Given the description of an element on the screen output the (x, y) to click on. 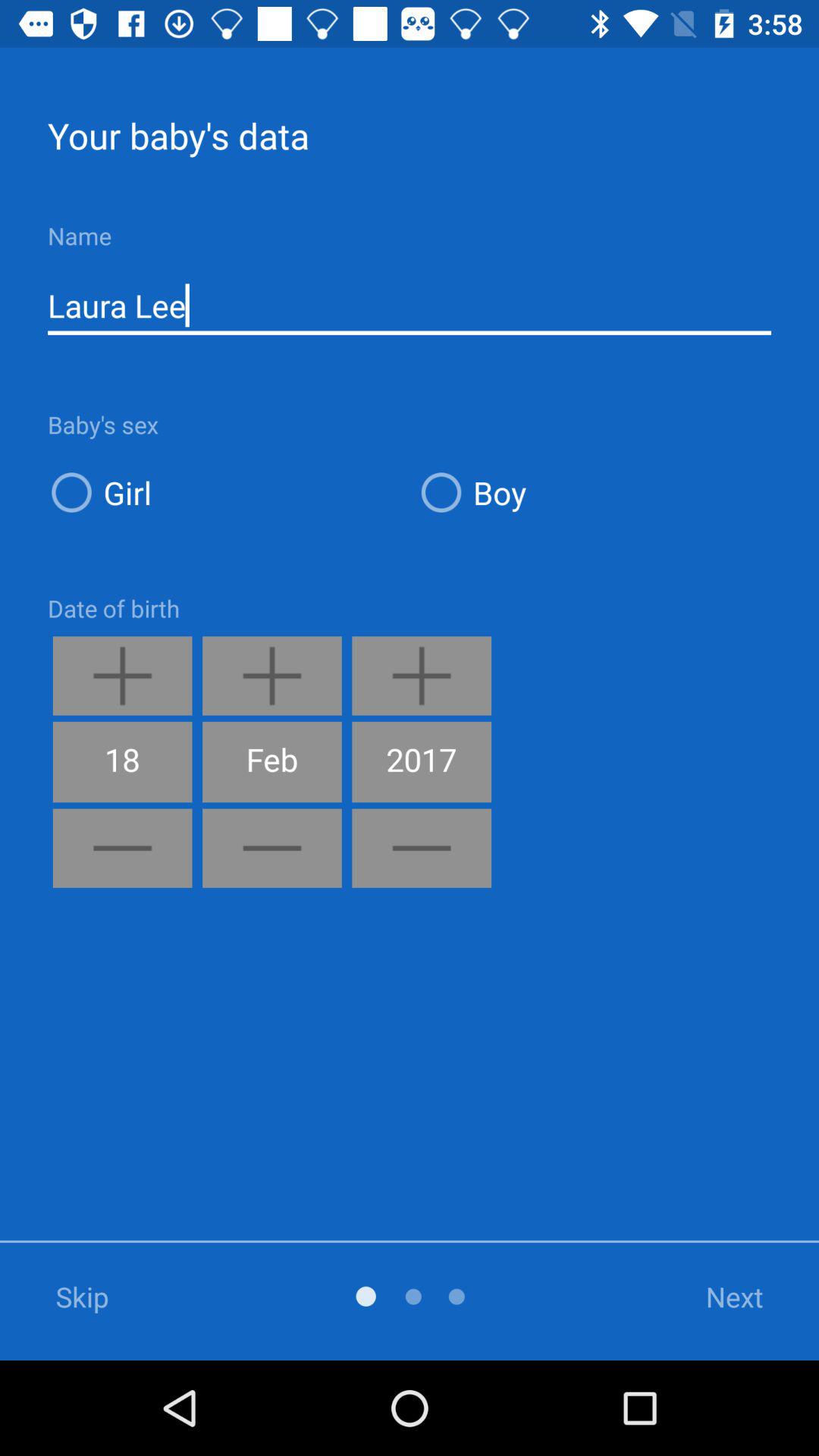
jump until the 2017 icon (421, 761)
